Given the description of an element on the screen output the (x, y) to click on. 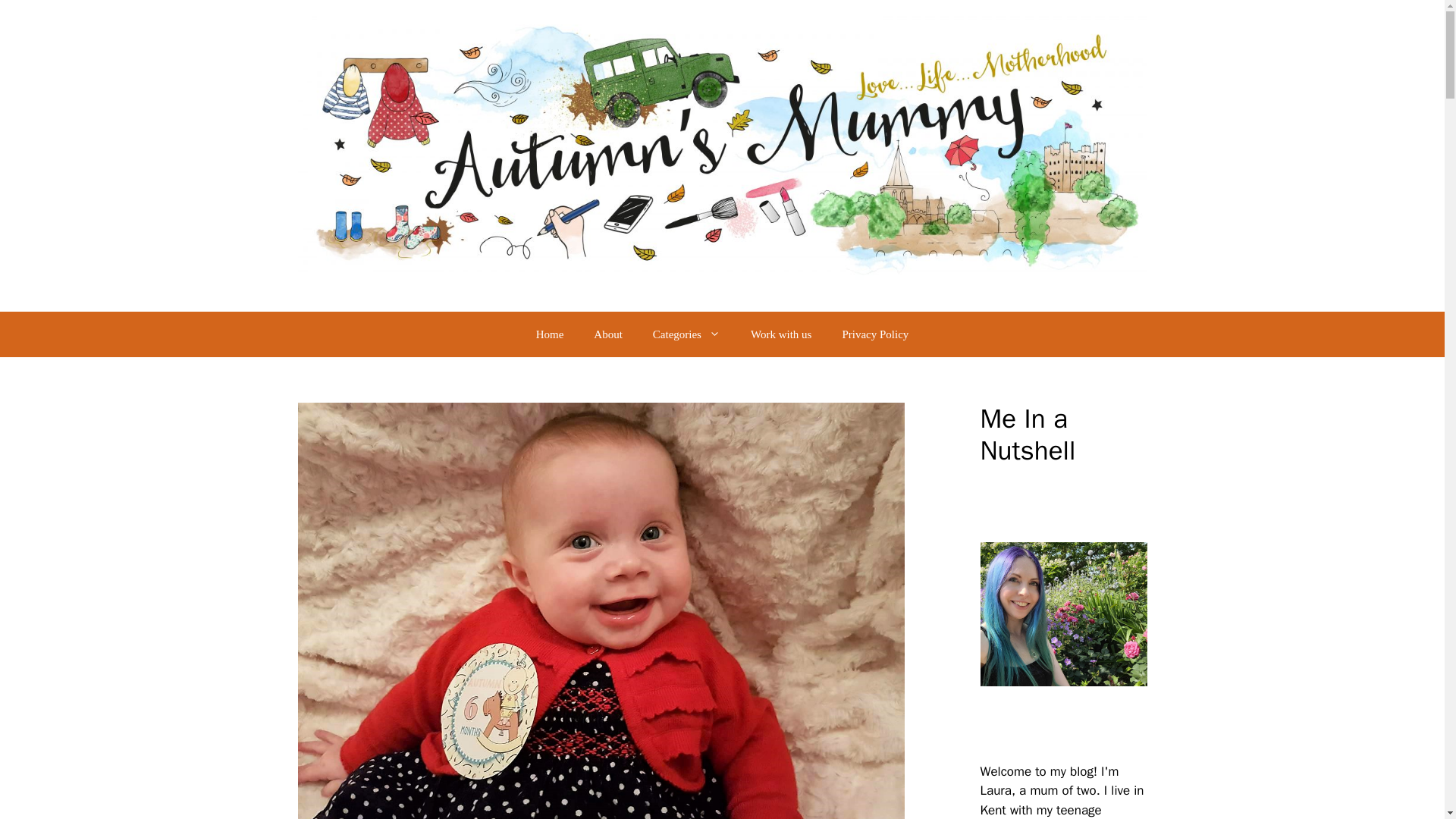
Privacy Policy (875, 334)
Work with us (781, 334)
About (607, 334)
Categories (686, 334)
Home (550, 334)
